Given the description of an element on the screen output the (x, y) to click on. 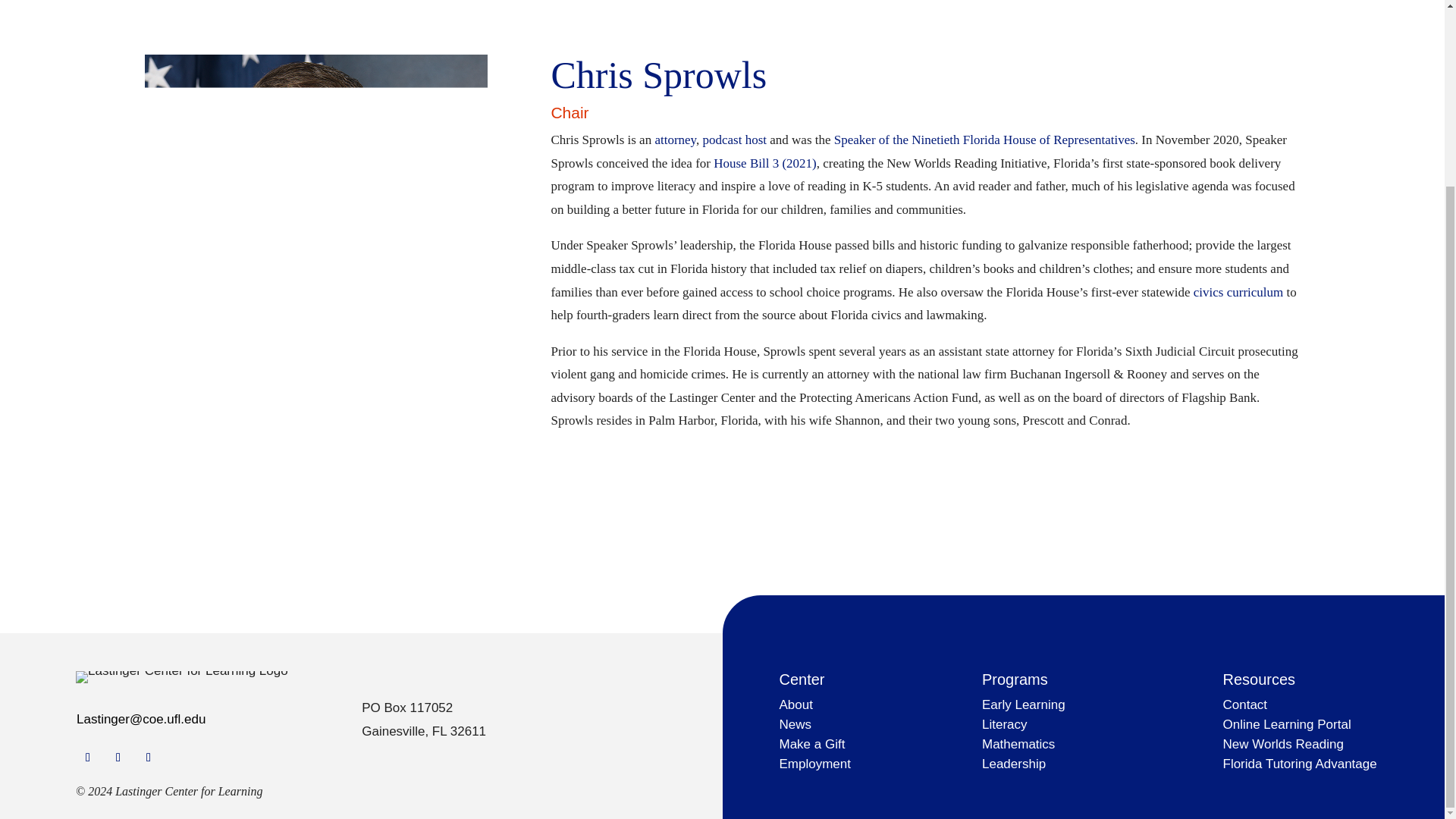
Follow on Twitter (118, 757)
Follow on LinkedIn (148, 757)
Follow on Facebook (87, 757)
Sprowls cropped (315, 227)
